Given the description of an element on the screen output the (x, y) to click on. 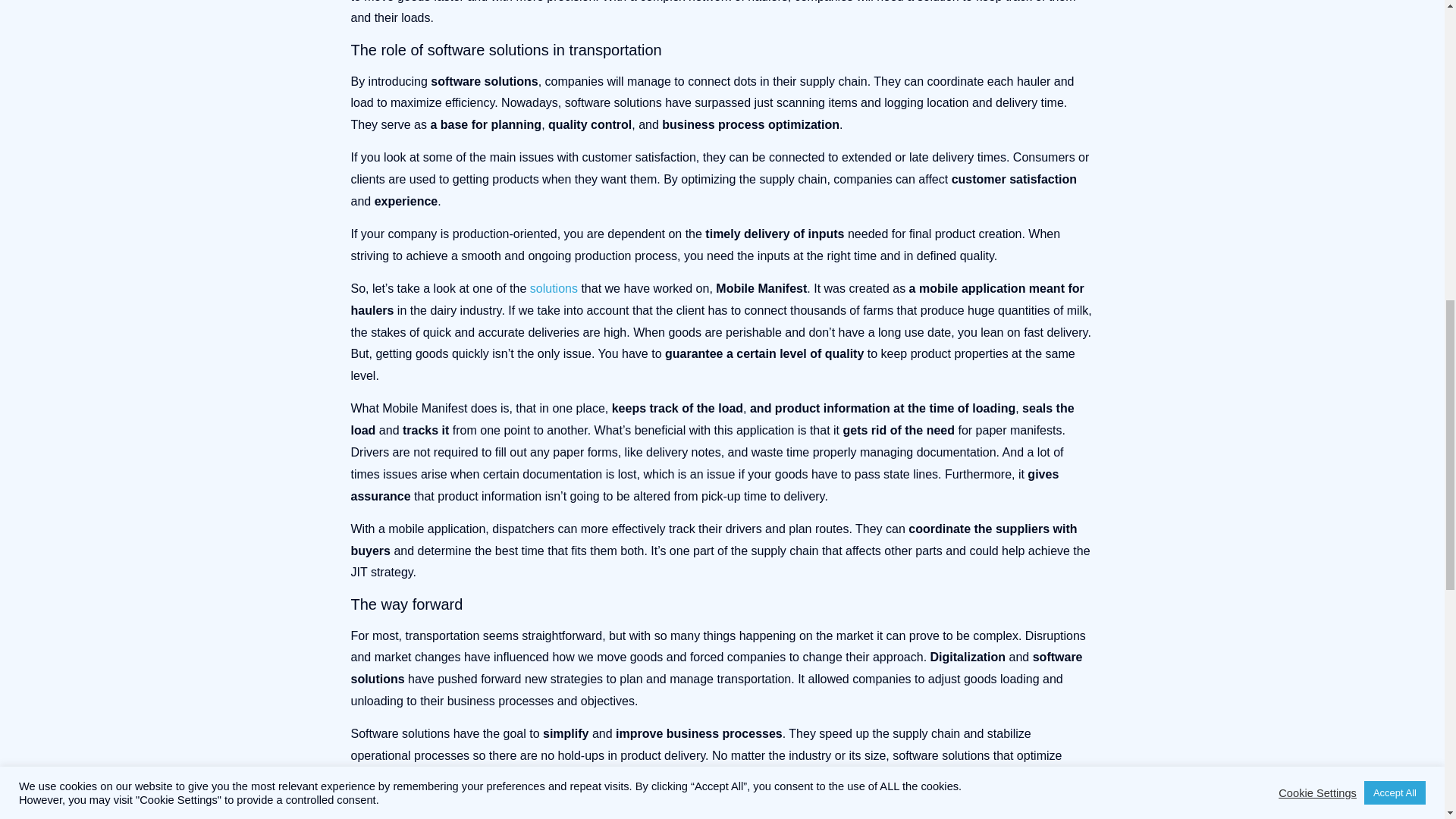
solutions (553, 287)
Projects (553, 287)
collect data (678, 777)
